Given the description of an element on the screen output the (x, y) to click on. 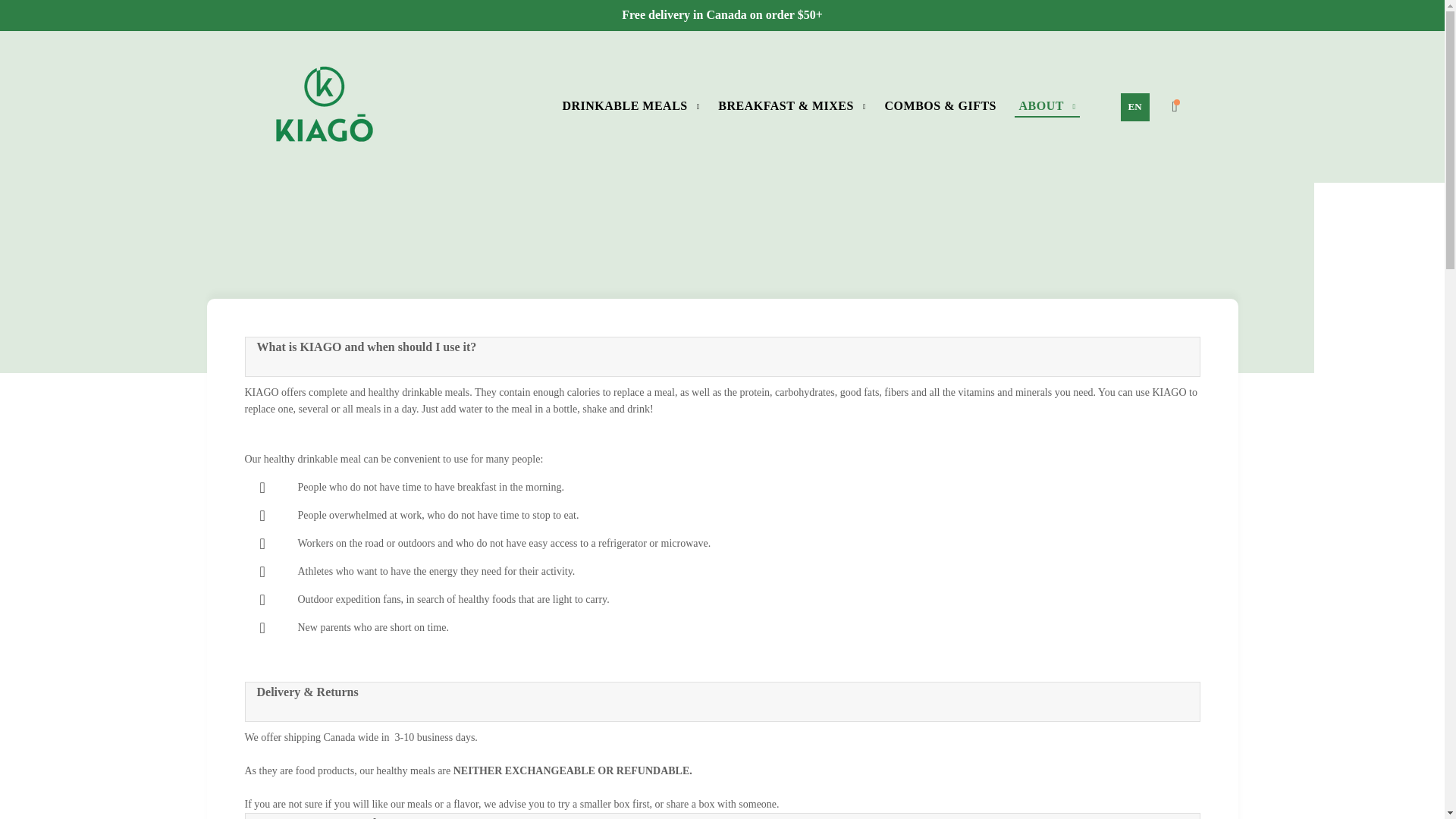
DRINKABLE MEALS (630, 106)
